Given the description of an element on the screen output the (x, y) to click on. 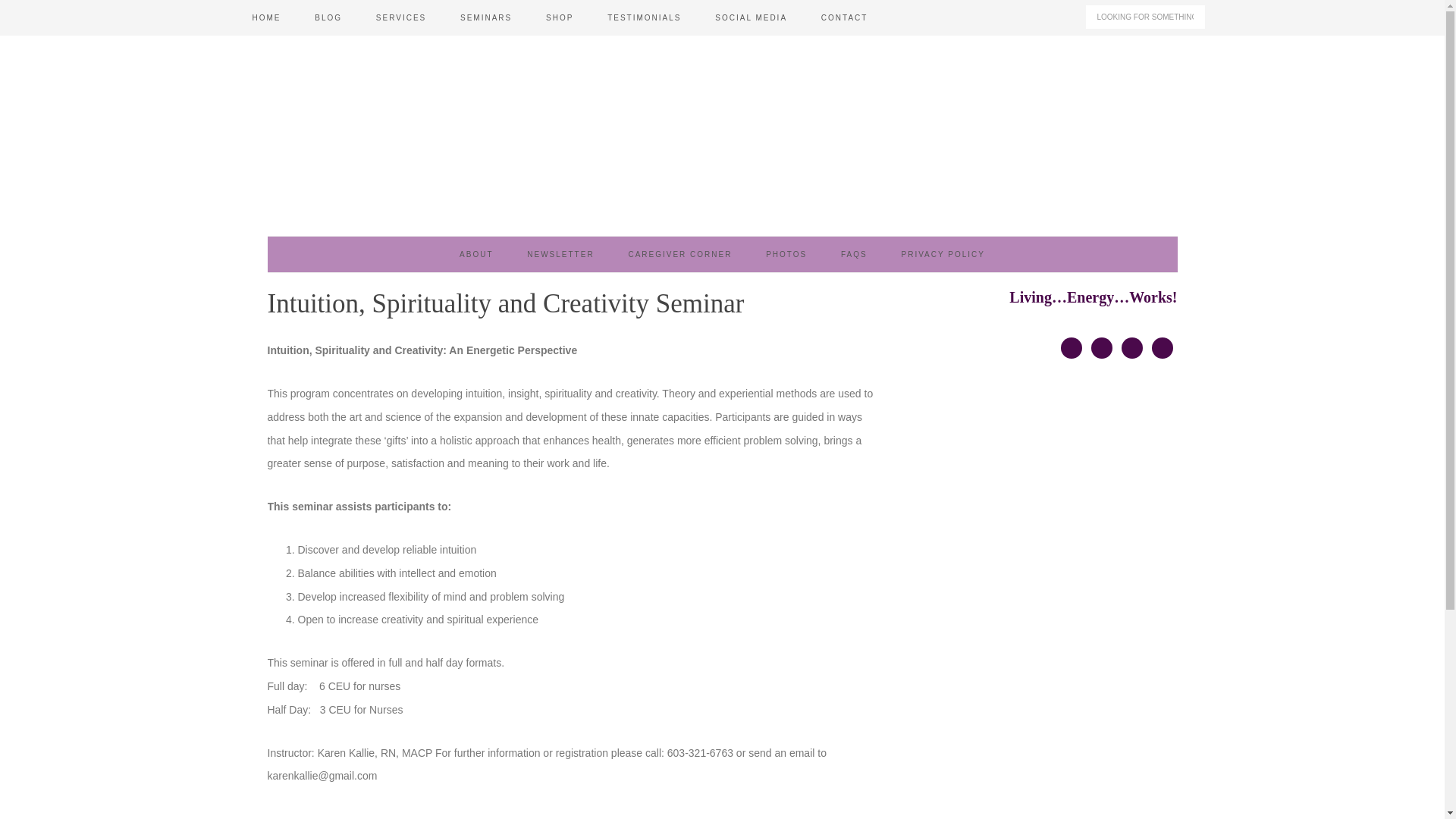
PRIVACY POLICY (941, 253)
HOME (265, 18)
SEMINARS (486, 18)
NEWSLETTER (560, 253)
ABOUT (476, 253)
SHOP (559, 18)
BLOG (327, 18)
TESTIMONIALS (643, 18)
SERVICES (401, 18)
PHOTOS (786, 253)
FAQS (853, 253)
SOCIAL MEDIA (751, 18)
